Given the description of an element on the screen output the (x, y) to click on. 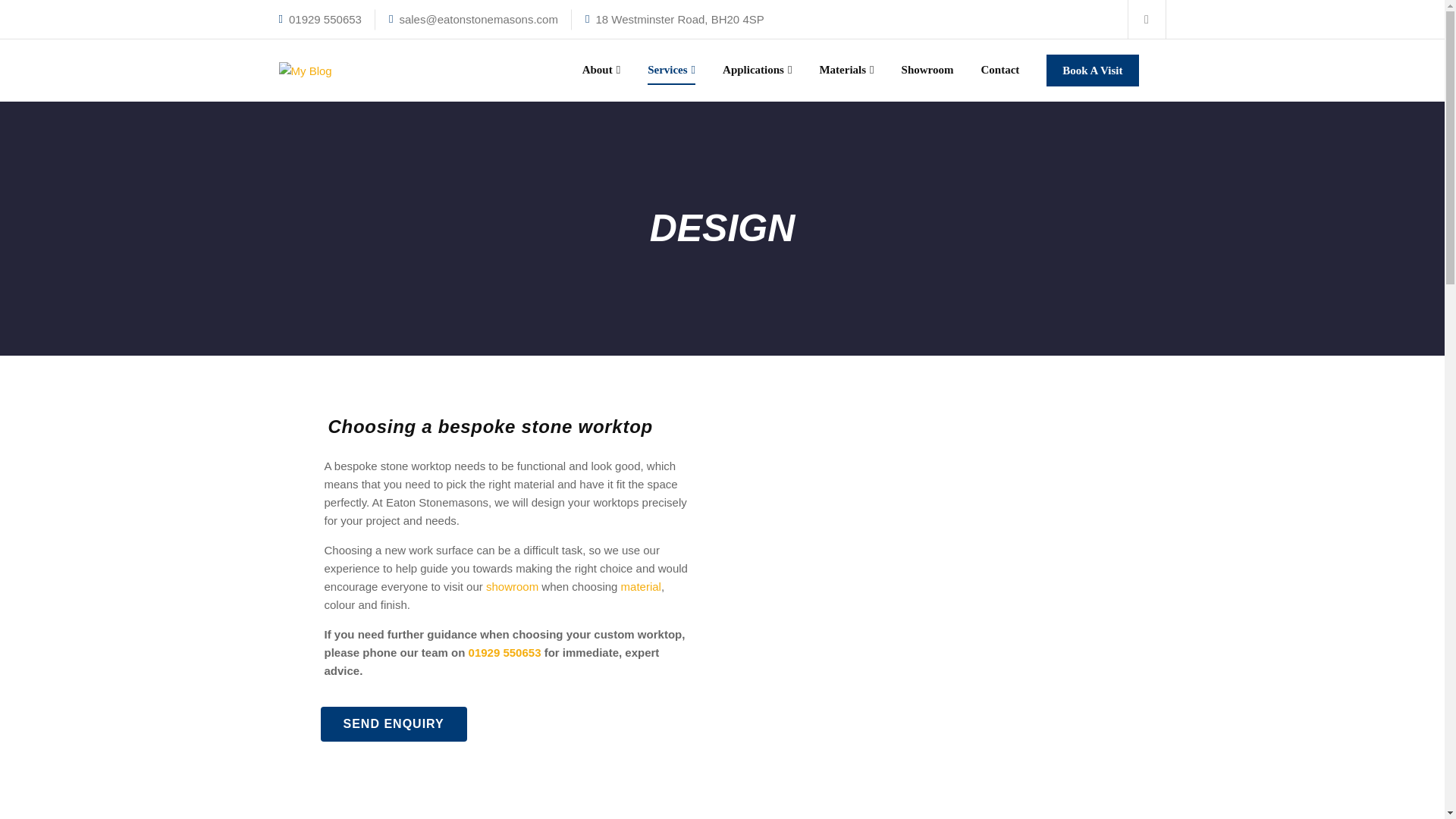
Contact (999, 69)
showroom (512, 585)
Materials (845, 69)
SEND ENQUIRY (392, 724)
Showroom (927, 69)
Book A Visit (1092, 70)
material (641, 585)
My Blog (305, 69)
01929 550653 (504, 652)
01929 550653 (324, 19)
About (601, 69)
Applications (757, 69)
Services (671, 69)
